Given the description of an element on the screen output the (x, y) to click on. 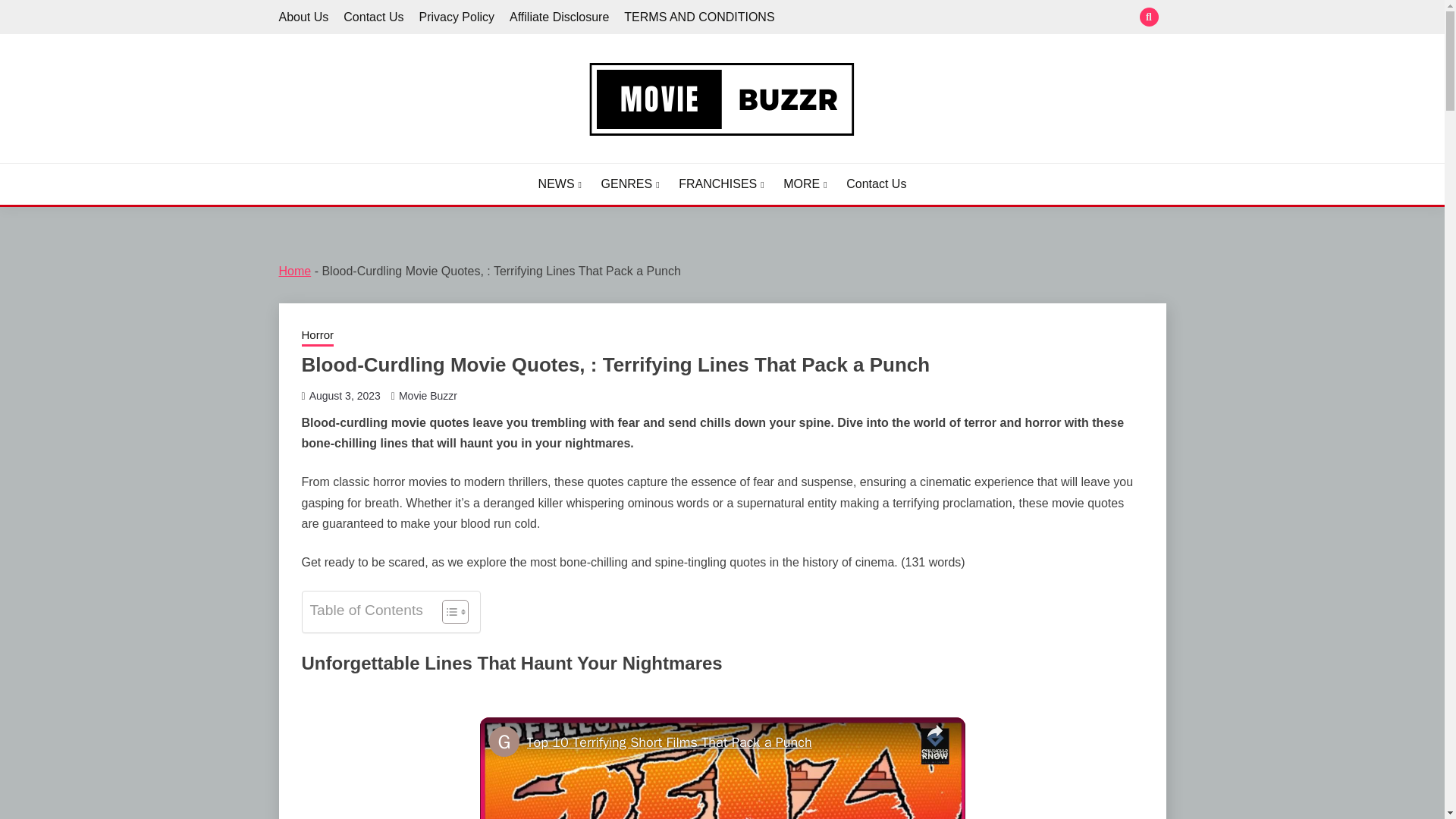
Search (832, 18)
Contact Us (373, 16)
FRANCHISES (721, 184)
About Us (304, 16)
MOVIE BUZZR (374, 160)
NEWS (559, 184)
TERMS AND CONDITIONS (699, 16)
Horror (317, 336)
Contact Us (875, 184)
MORE (805, 184)
GENRES (630, 184)
Affiliate Disclosure (558, 16)
Privacy Policy (457, 16)
Home (295, 270)
